Given the description of an element on the screen output the (x, y) to click on. 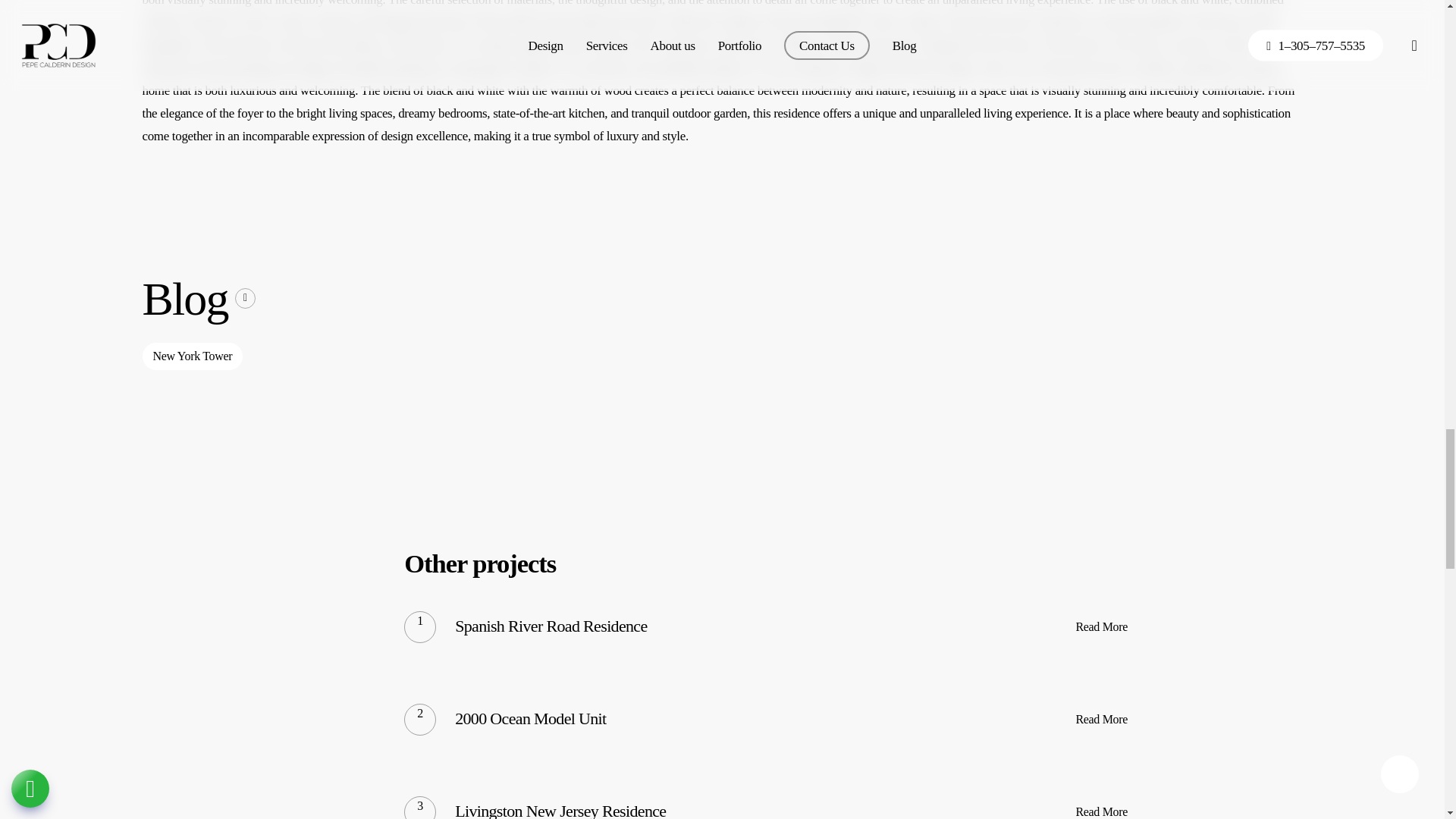
Blog (199, 298)
New York Tower (192, 356)
Spanish River Road Residence (550, 625)
